Given the description of an element on the screen output the (x, y) to click on. 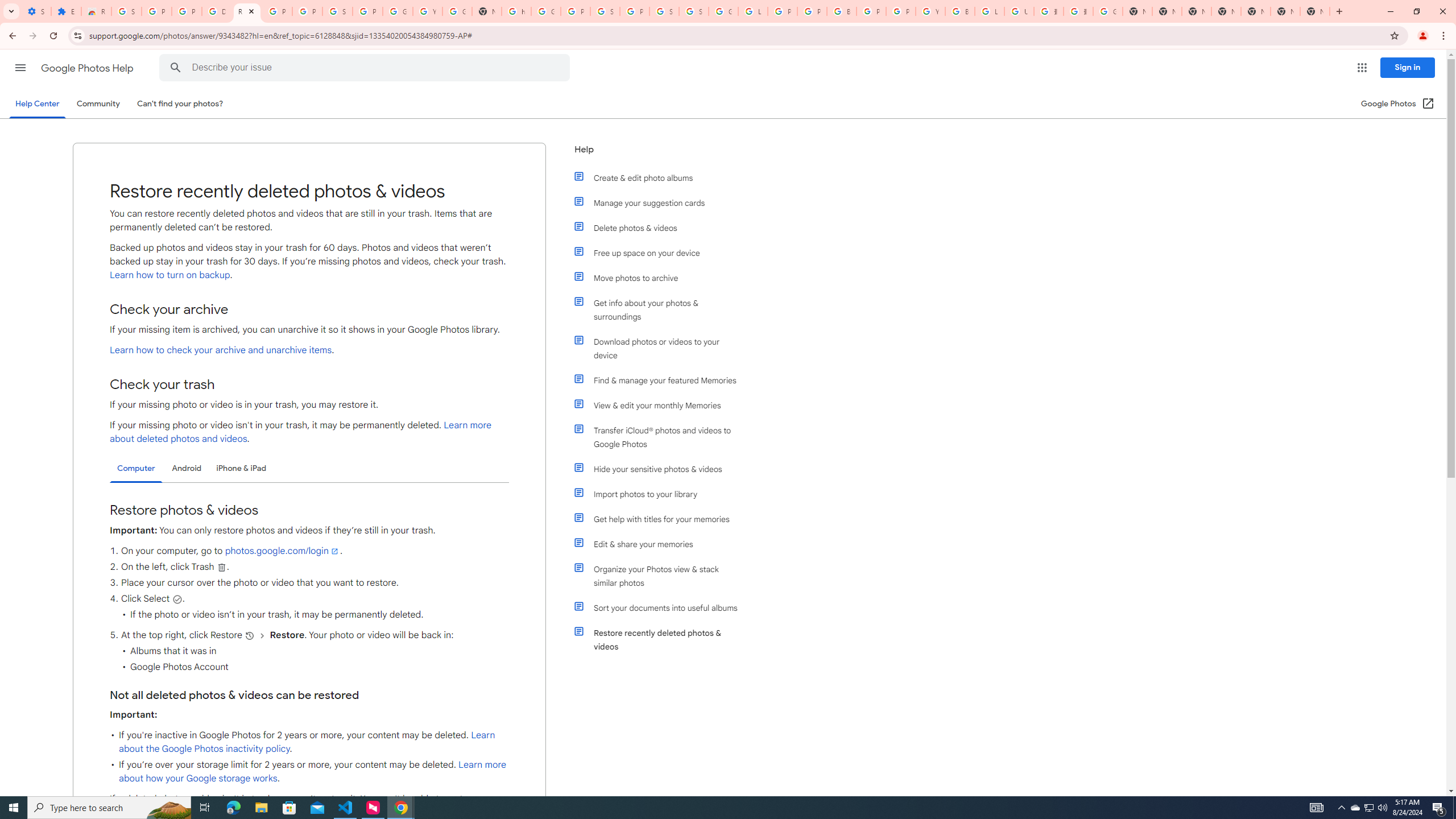
Organize your Photos view & stack similar photos (661, 575)
Privacy Help Center - Policies Help (811, 11)
View & edit your monthly Memories (661, 405)
Describe your issue (366, 67)
Delete photos & videos (661, 227)
Get help with titles for your memories (661, 518)
Learn more about how your Google storage works (312, 771)
Privacy Help Center - Policies Help (782, 11)
Edit & share your memories (661, 543)
